Given the description of an element on the screen output the (x, y) to click on. 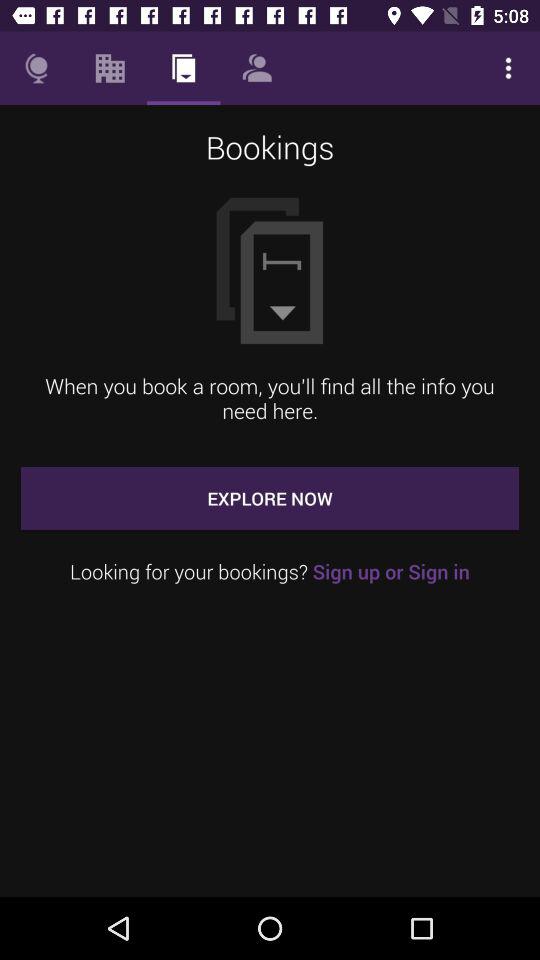
click the icon above the looking for your item (270, 497)
